Given the description of an element on the screen output the (x, y) to click on. 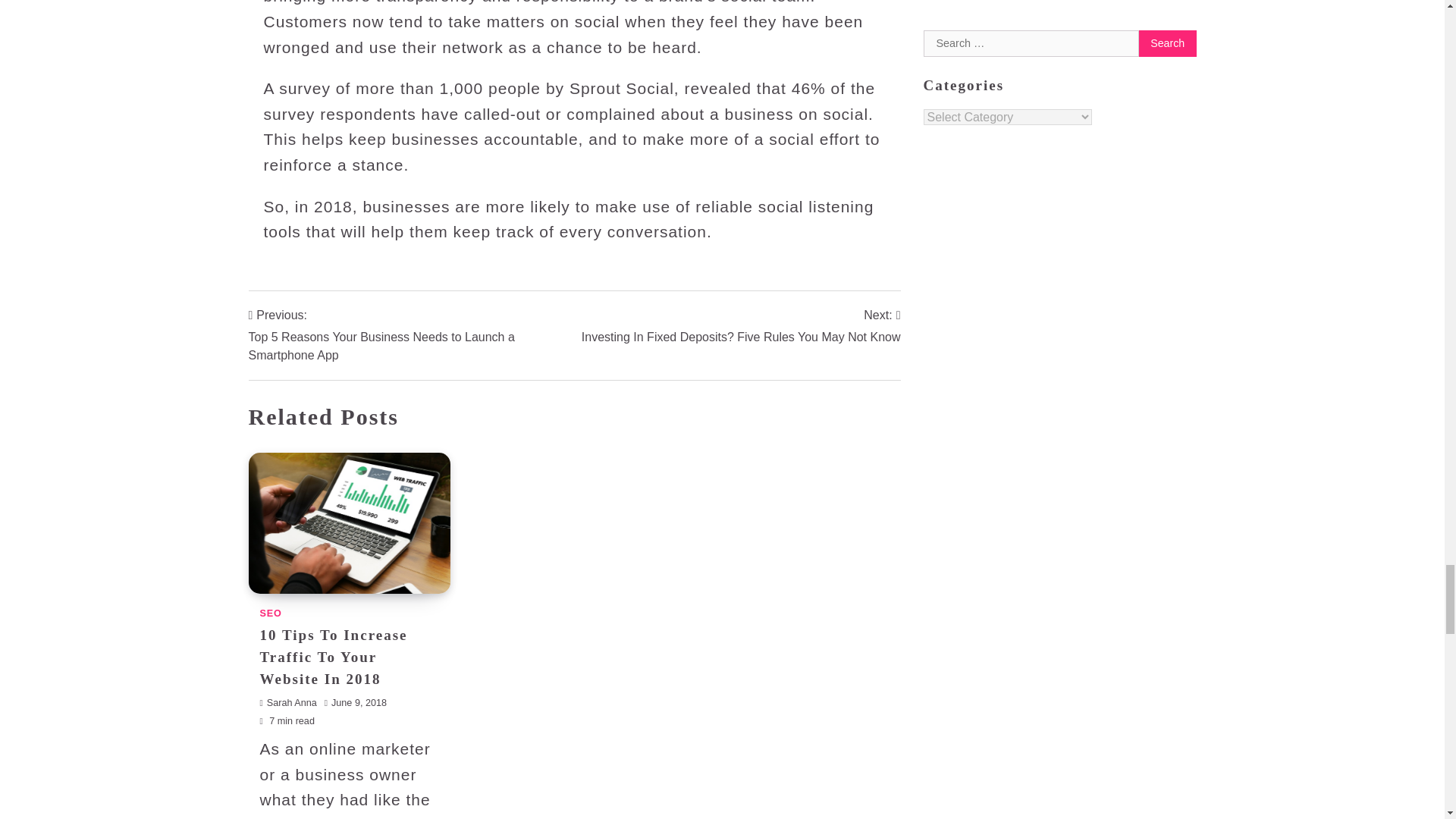
SEO (270, 613)
Sarah Anna (287, 702)
10 Tips To Increase Traffic To Your Website In 2018 (333, 656)
